Given the description of an element on the screen output the (x, y) to click on. 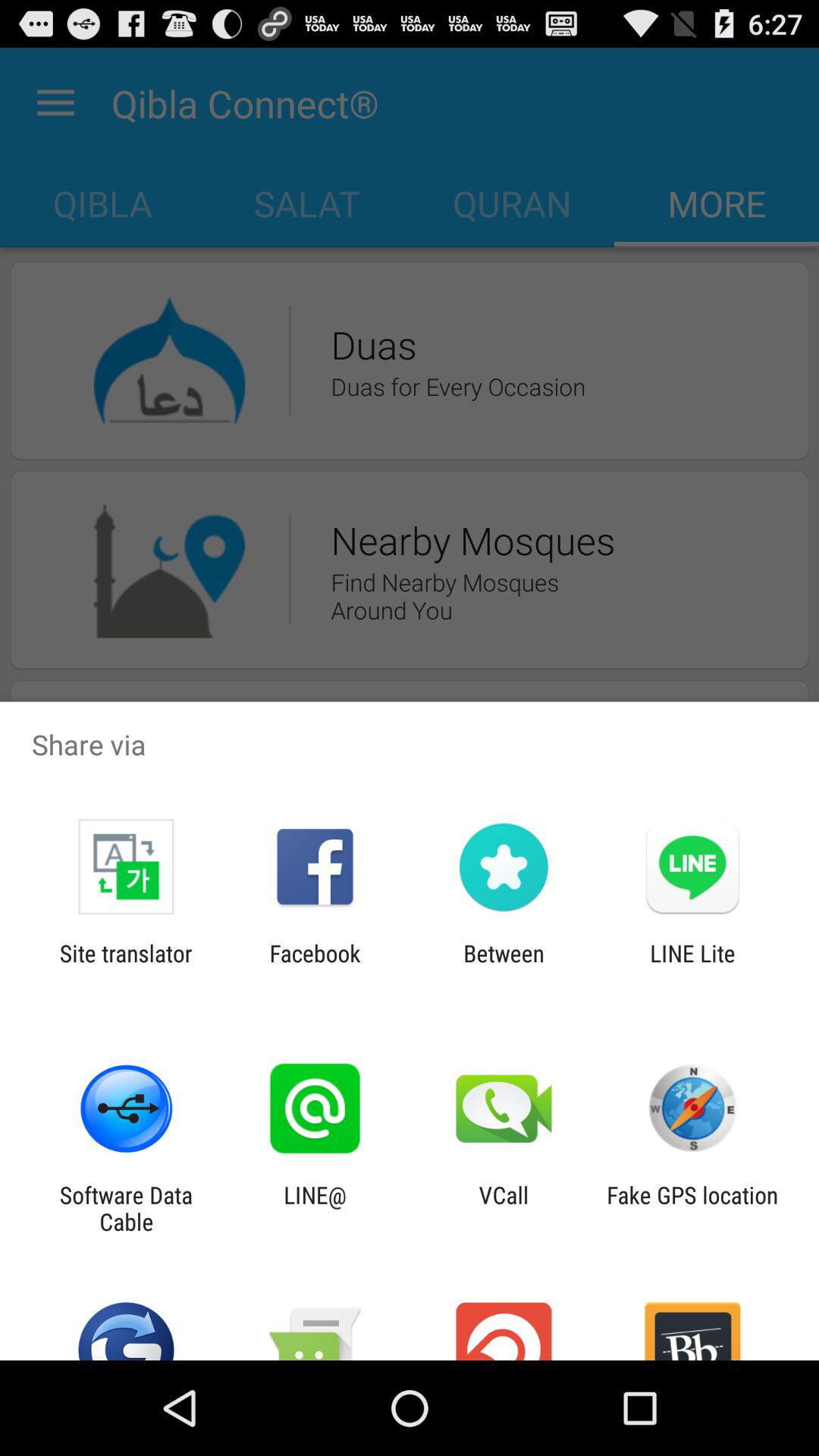
launch the icon to the right of the facebook icon (503, 966)
